Given the description of an element on the screen output the (x, y) to click on. 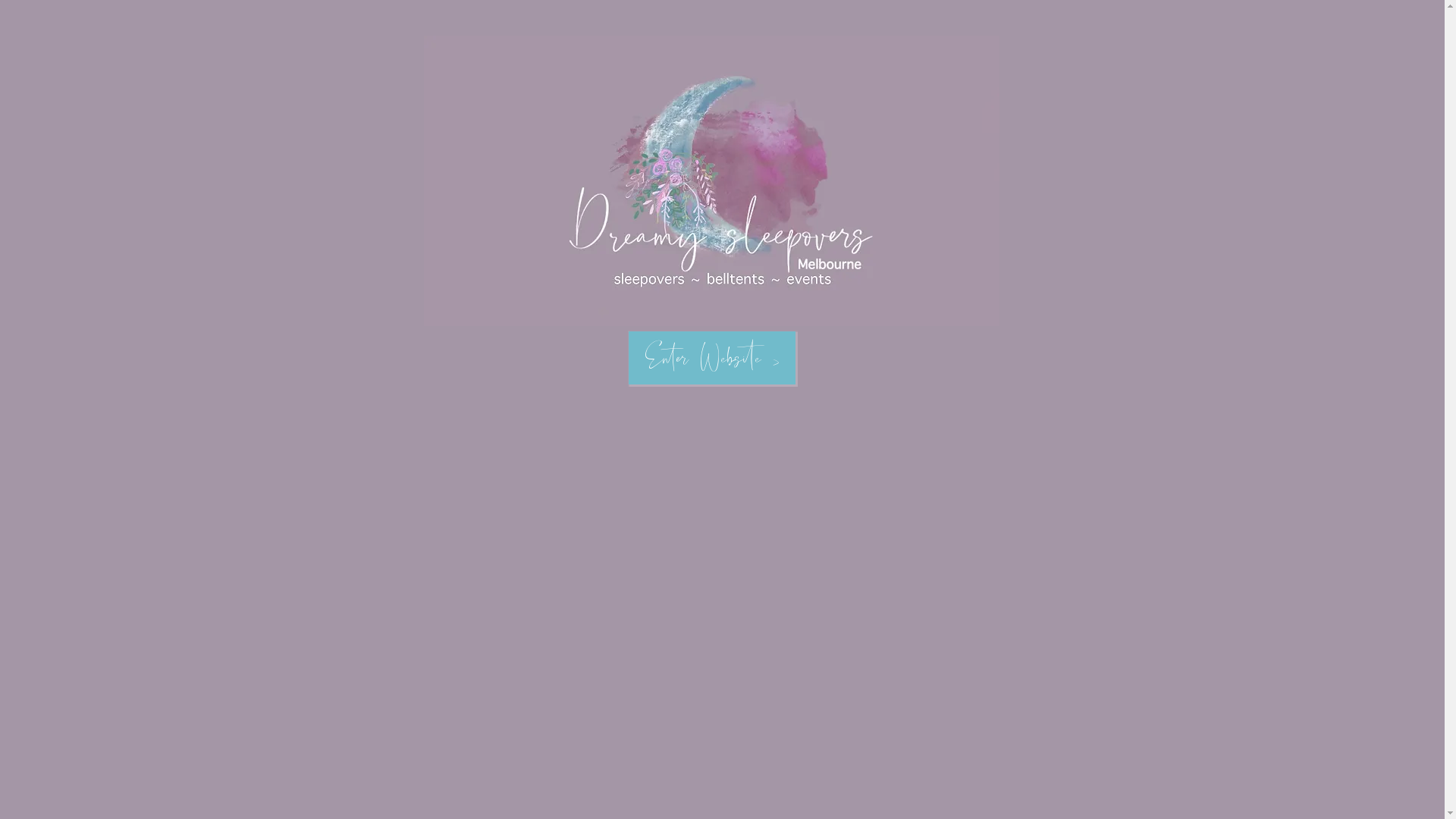
Enter Website > Element type: text (710, 357)
